Given the description of an element on the screen output the (x, y) to click on. 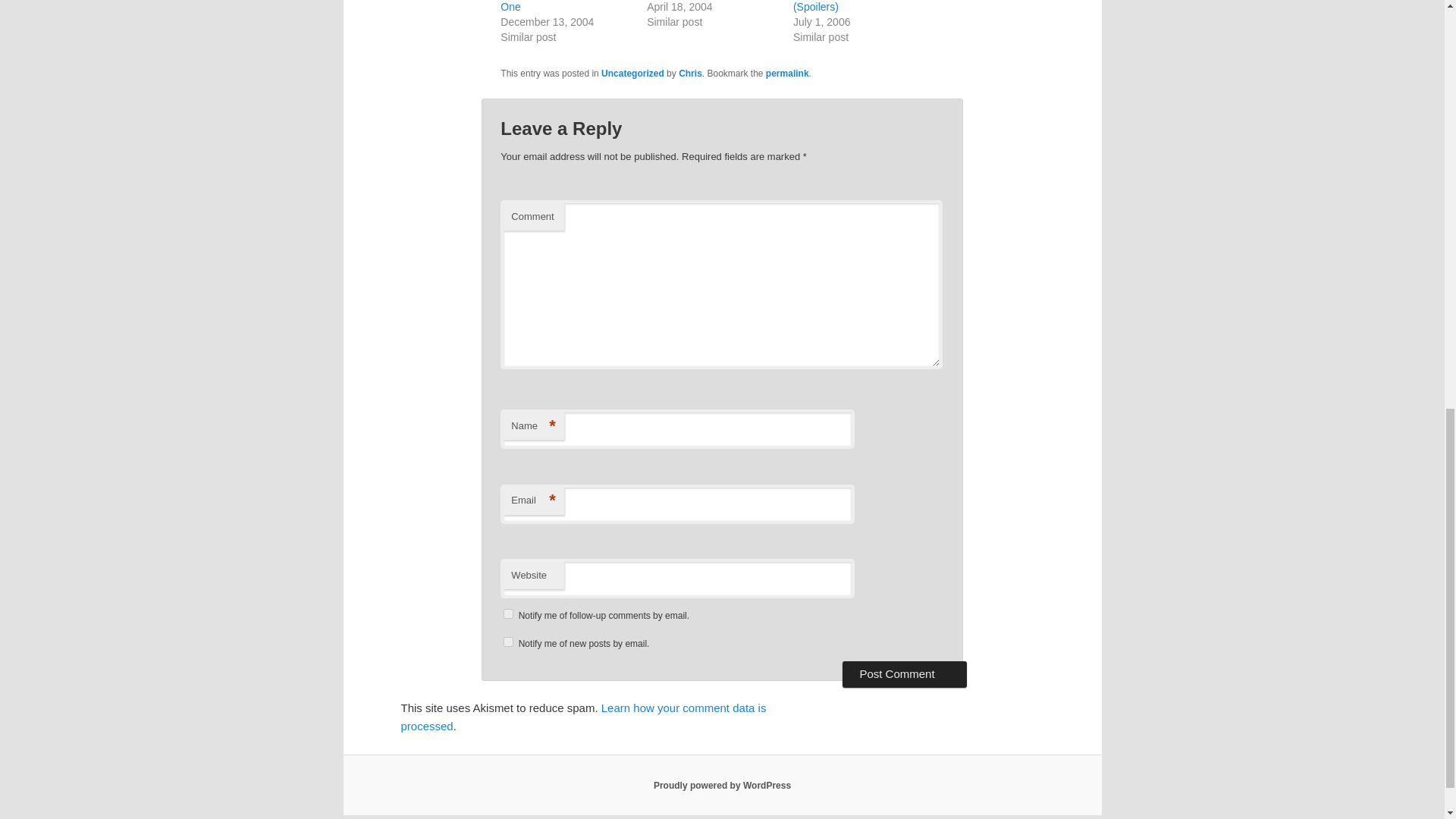
Chris (689, 72)
permalink (787, 72)
subscribe (508, 614)
Bigger, Redder, but Still the One (564, 6)
Proudly powered by WordPress (721, 785)
Uncategorized (632, 72)
Semantic Personal Publishing Platform (721, 785)
Learn how your comment data is processed (582, 716)
Post Comment (904, 673)
Post Comment (904, 673)
Permalink to Initial Reaction: Serenity (787, 72)
subscribe (508, 642)
